Given the description of an element on the screen output the (x, y) to click on. 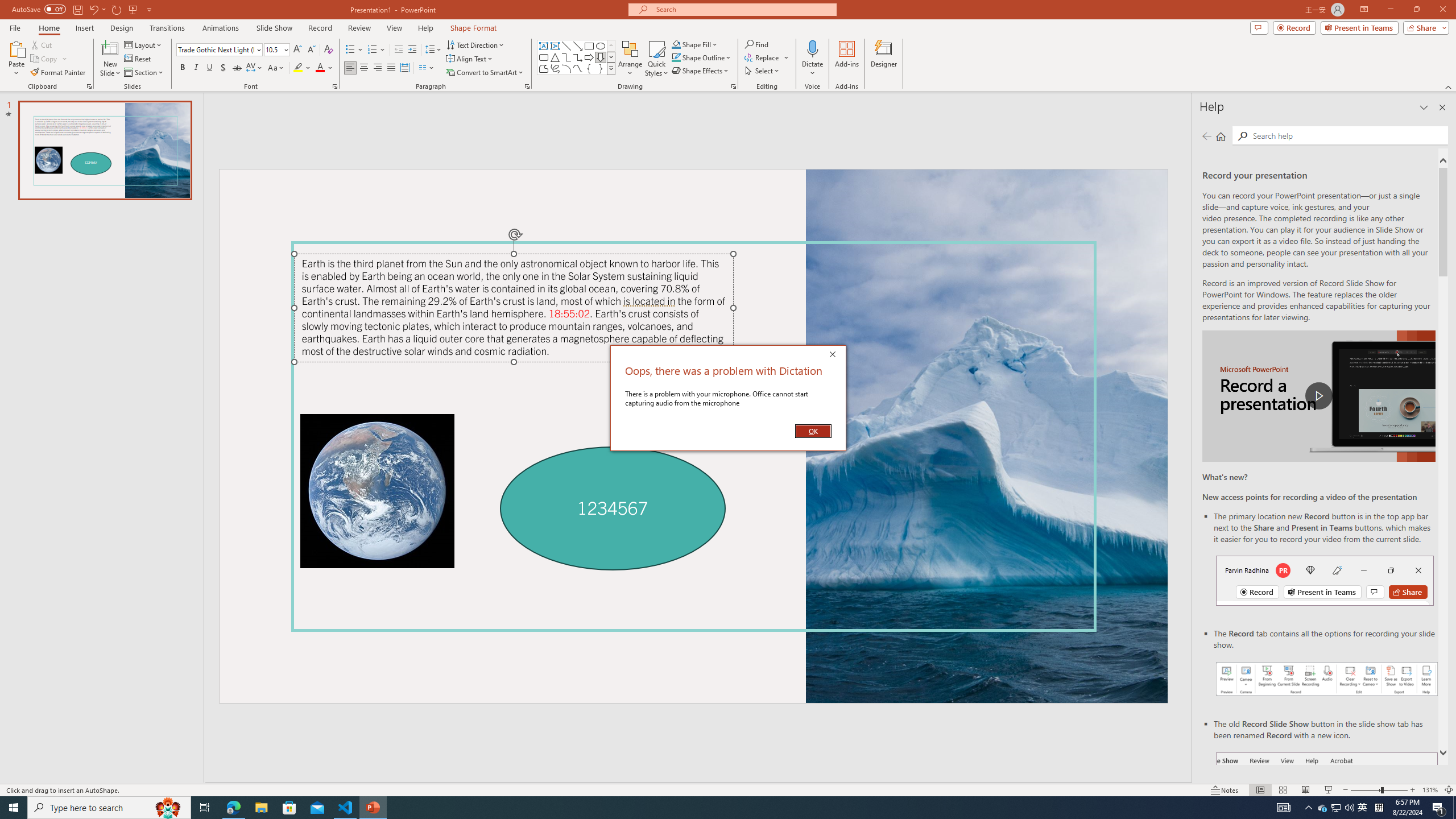
Connector: Elbow Arrow (577, 57)
Cut (42, 44)
Align Right (377, 67)
Freeform: Scribble (554, 68)
Right Brace (600, 68)
Font Color (324, 67)
Freeform: Shape (543, 68)
Row Down (611, 56)
Arrange (630, 58)
Shape Effects (700, 69)
Line Spacing (433, 49)
Change Case (276, 67)
Dictate (812, 48)
